Given the description of an element on the screen output the (x, y) to click on. 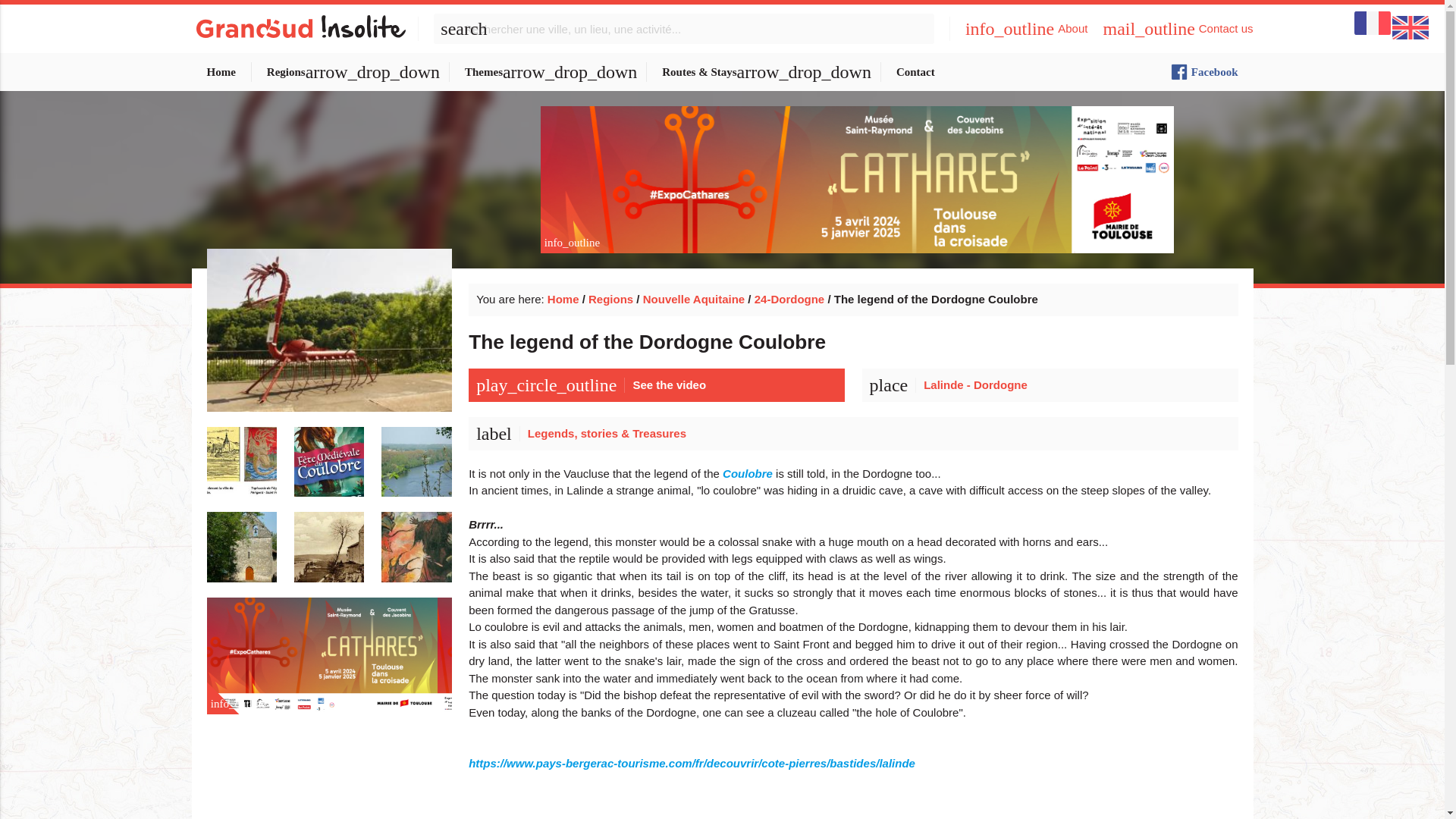
Le Coulobre (328, 454)
Le Coulobre - l'aglise Saint-Front (328, 539)
Home (220, 71)
Le Coulobre - l'aglise Saint-Front (241, 539)
Le Coulobre (416, 454)
Le Coulobre (416, 539)
Le Coulobre (241, 454)
Le Coulobre (329, 347)
English (1410, 27)
